Given the description of an element on the screen output the (x, y) to click on. 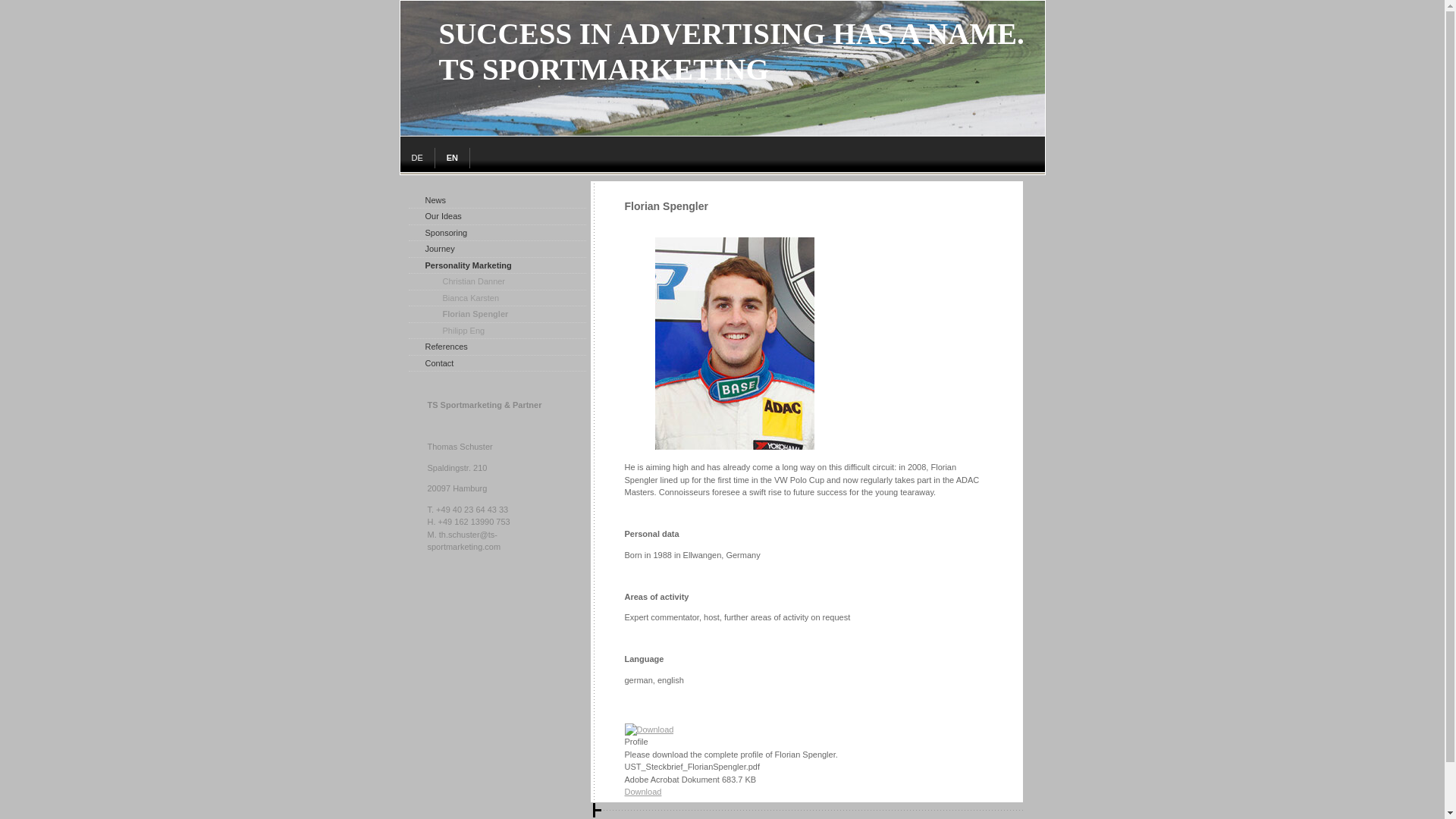
Sponsoring (496, 232)
Philipp Eng (496, 330)
EN (452, 158)
Florian Spengler (496, 314)
Christian Danner (496, 281)
Bianca Karsten (496, 297)
Journey (496, 248)
Contact (496, 362)
Personality Marketing (496, 265)
DE (417, 158)
News (496, 200)
References (496, 347)
Download (643, 791)
Our Ideas (496, 216)
SUCCESS IN ADVERTISING HAS A NAME. TS SPORTMARKETING (722, 132)
